Given the description of an element on the screen output the (x, y) to click on. 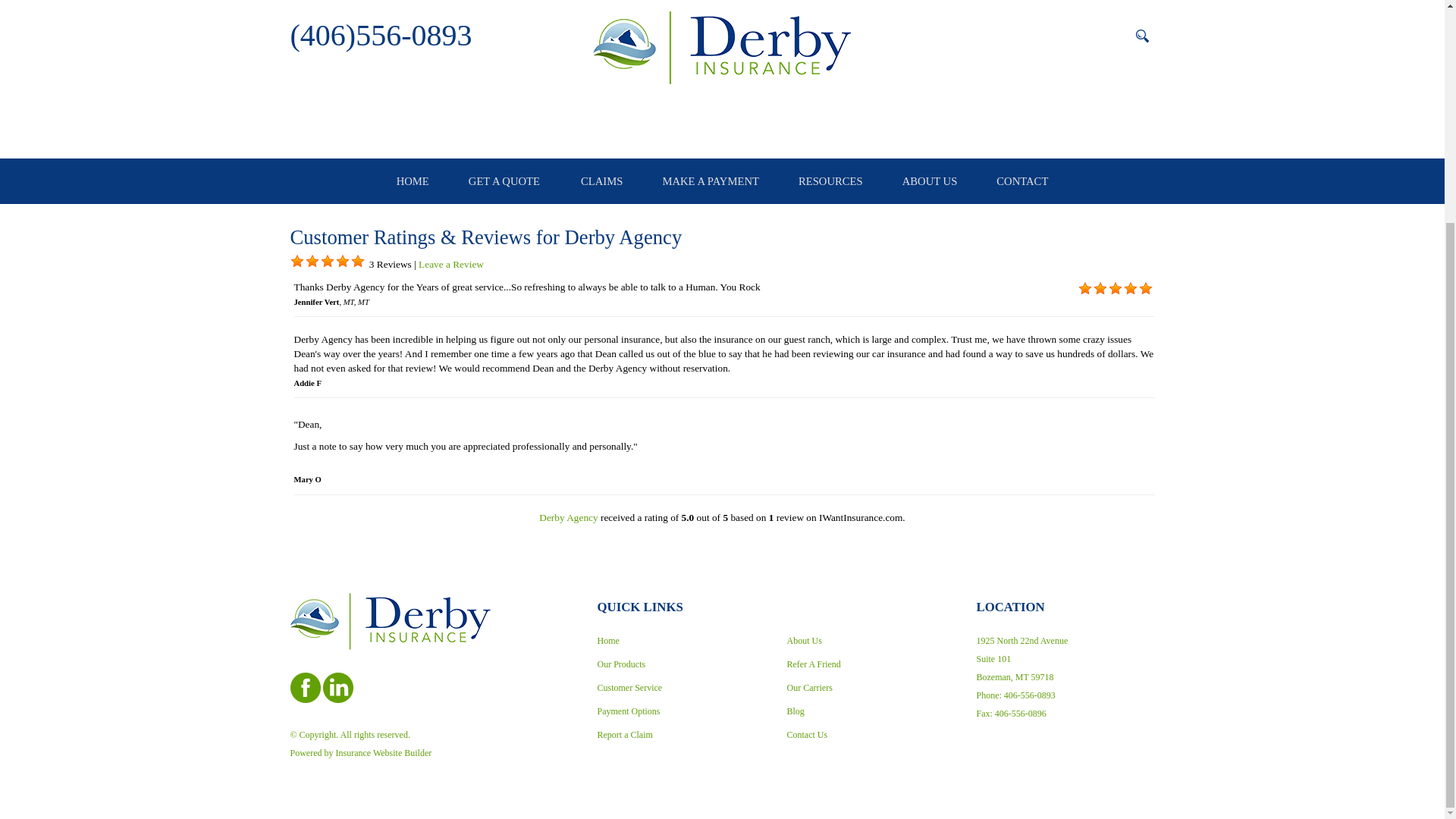
HOME (412, 180)
5.0 (326, 261)
Leave a Review (451, 264)
CLAIMS (602, 180)
RESOURCES (830, 180)
5.0 (357, 261)
4 (341, 261)
2 (311, 261)
5.0 (311, 261)
Our Products (680, 664)
